Given the description of an element on the screen output the (x, y) to click on. 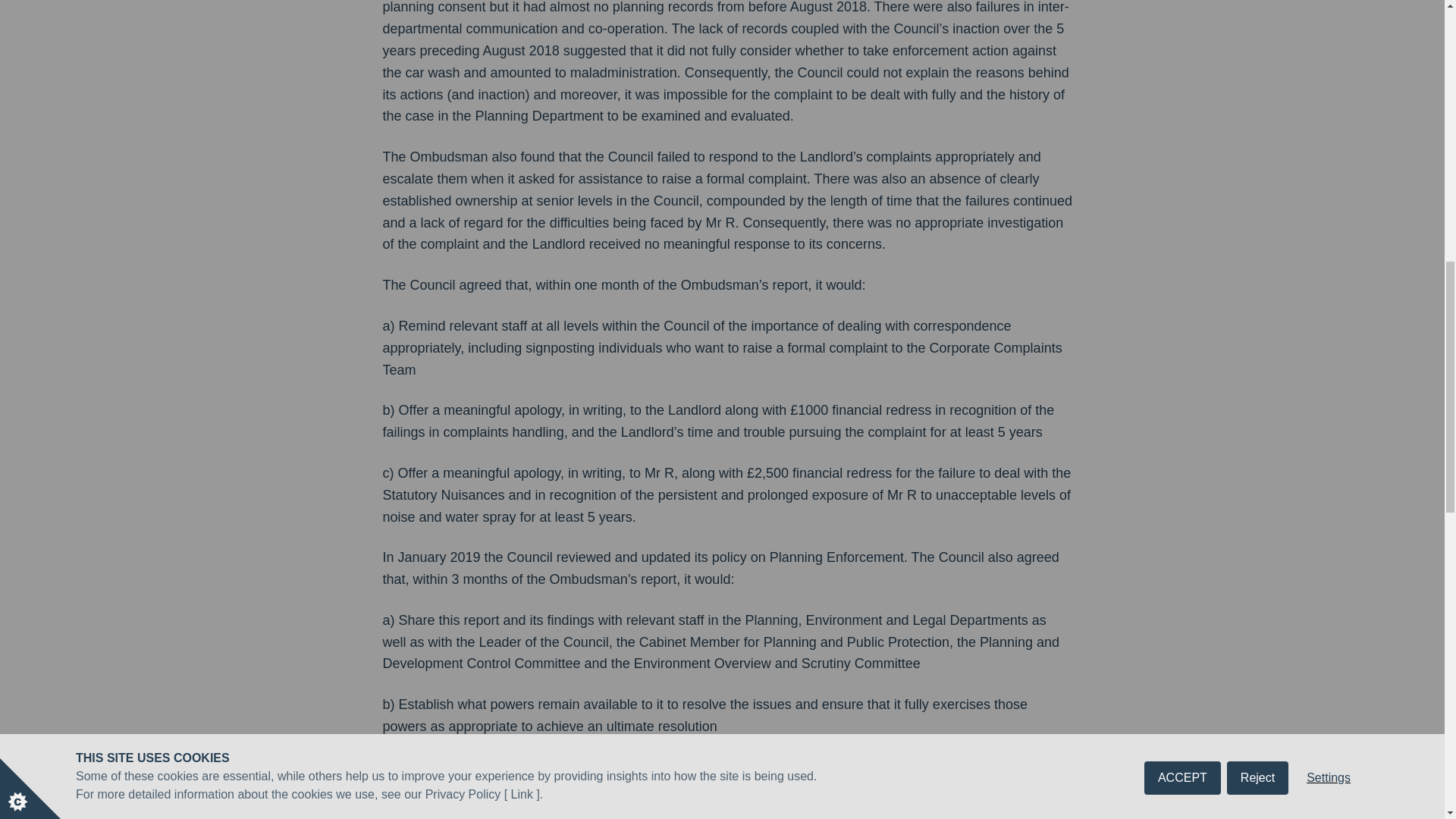
Reject (1257, 9)
Settings (1328, 2)
Link (521, 41)
ACCEPT (1182, 12)
